Given the description of an element on the screen output the (x, y) to click on. 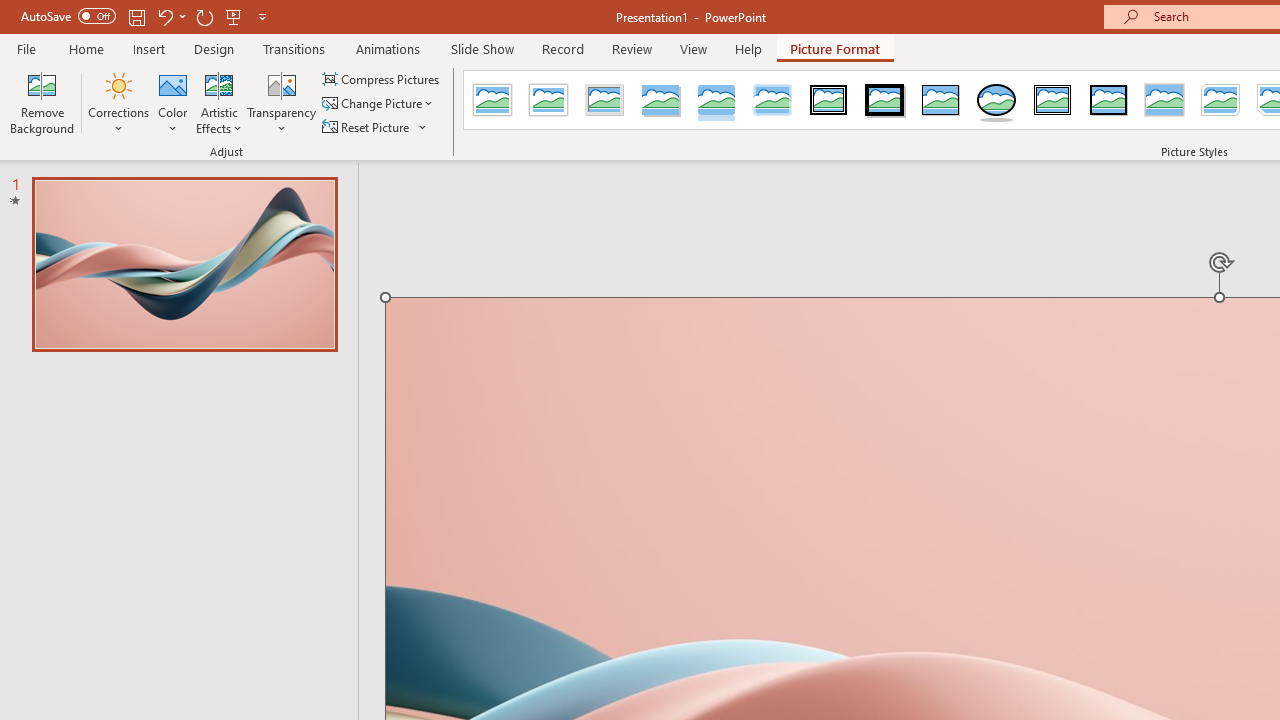
Artistic Effects (219, 102)
Double Frame, Black (829, 100)
More Options (424, 126)
Transitions (294, 48)
Compound Frame, Black (1053, 100)
File Tab (26, 48)
Remove Background (41, 102)
Corrections (118, 102)
Save (136, 15)
Customize Quick Access Toolbar (262, 15)
Change Picture (379, 103)
Undo (170, 15)
Center Shadow Rectangle (1164, 100)
